Given the description of an element on the screen output the (x, y) to click on. 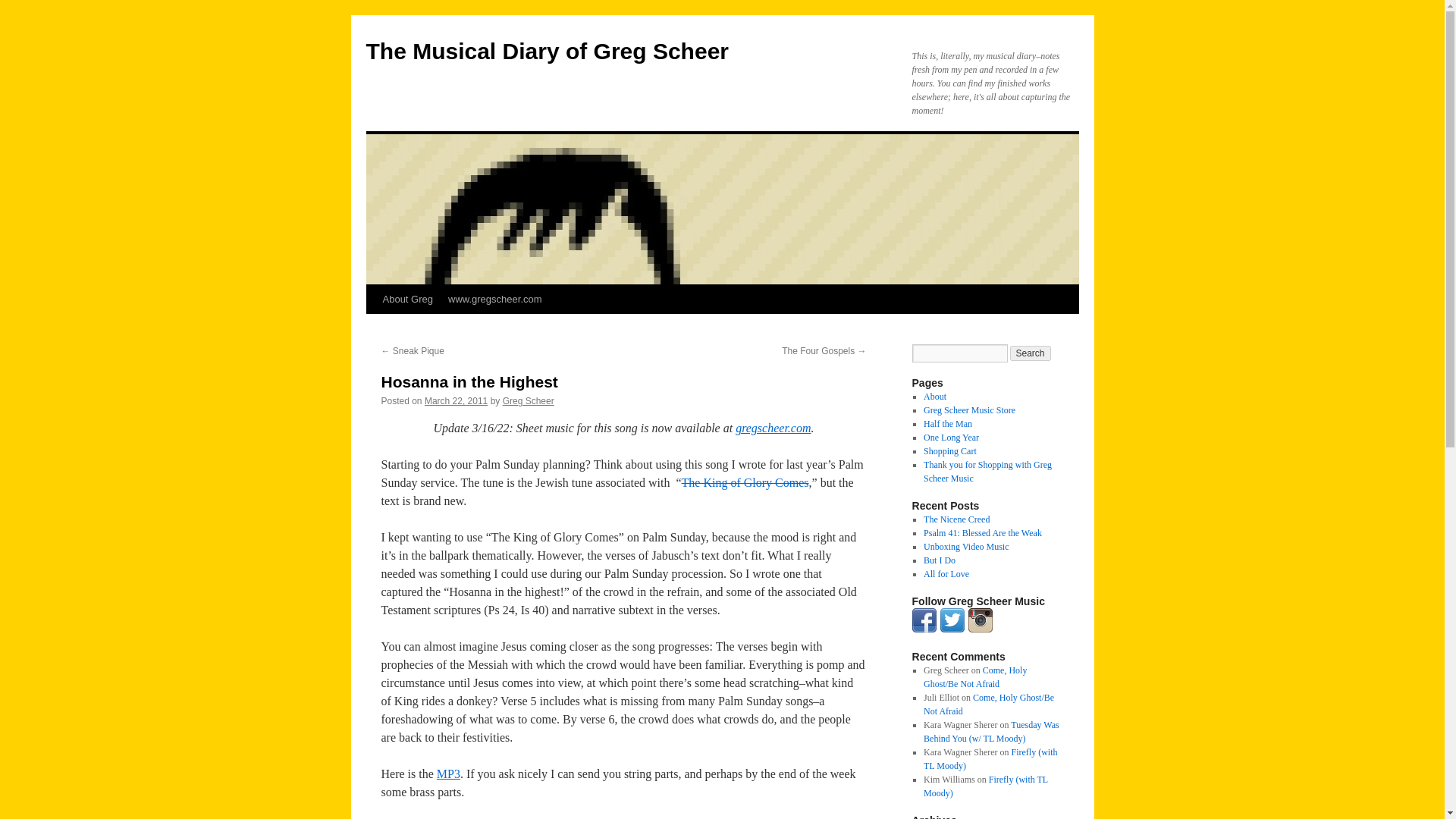
Greg Scheer (528, 400)
Unboxing Video Music (966, 546)
All for Love (946, 573)
About (934, 396)
Greg Scheer Music Store (968, 409)
The Nicene Creed (956, 519)
Psalm 41: Blessed Are the Weak (982, 532)
View all posts by Greg Scheer (528, 400)
Half the Man (947, 423)
But I Do (939, 560)
gregscheer.com (772, 427)
March 22, 2011 (456, 400)
12:37 pm (456, 400)
The Musical Diary of Greg Scheer (547, 50)
www.gregscheer.com (495, 299)
